Given the description of an element on the screen output the (x, y) to click on. 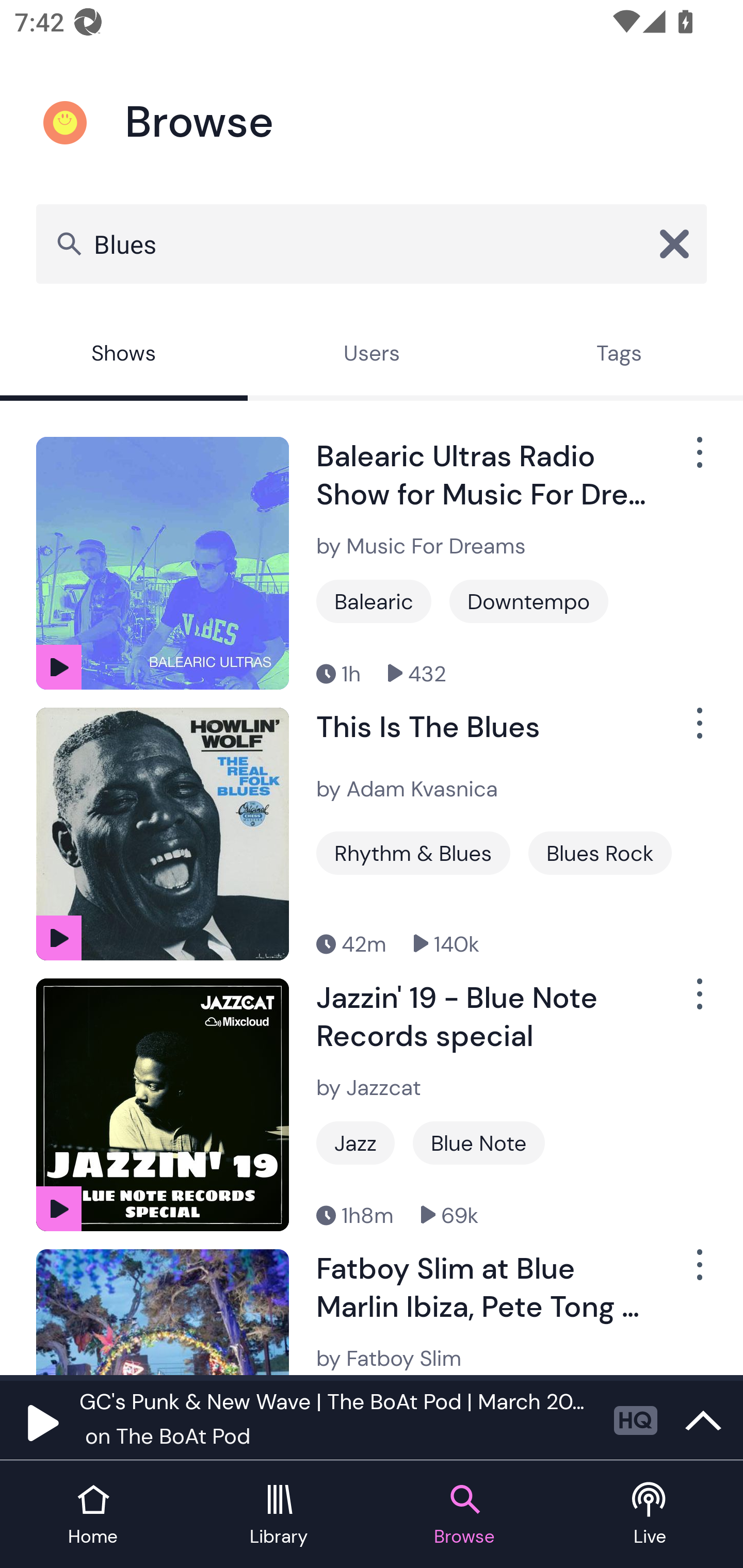
Blues (371, 243)
Shows (123, 355)
Users (371, 355)
Tags (619, 355)
Show Options Menu Button (697, 460)
Balearic (373, 601)
Downtempo (528, 601)
Show Options Menu Button (697, 730)
Rhythm & Blues (413, 852)
Blues Rock (599, 852)
Show Options Menu Button (697, 1001)
Jazz (355, 1143)
Blue Note (478, 1143)
Show Options Menu Button (697, 1272)
Home tab Home (92, 1515)
Library tab Library (278, 1515)
Browse tab Browse (464, 1515)
Live tab Live (650, 1515)
